Given the description of an element on the screen output the (x, y) to click on. 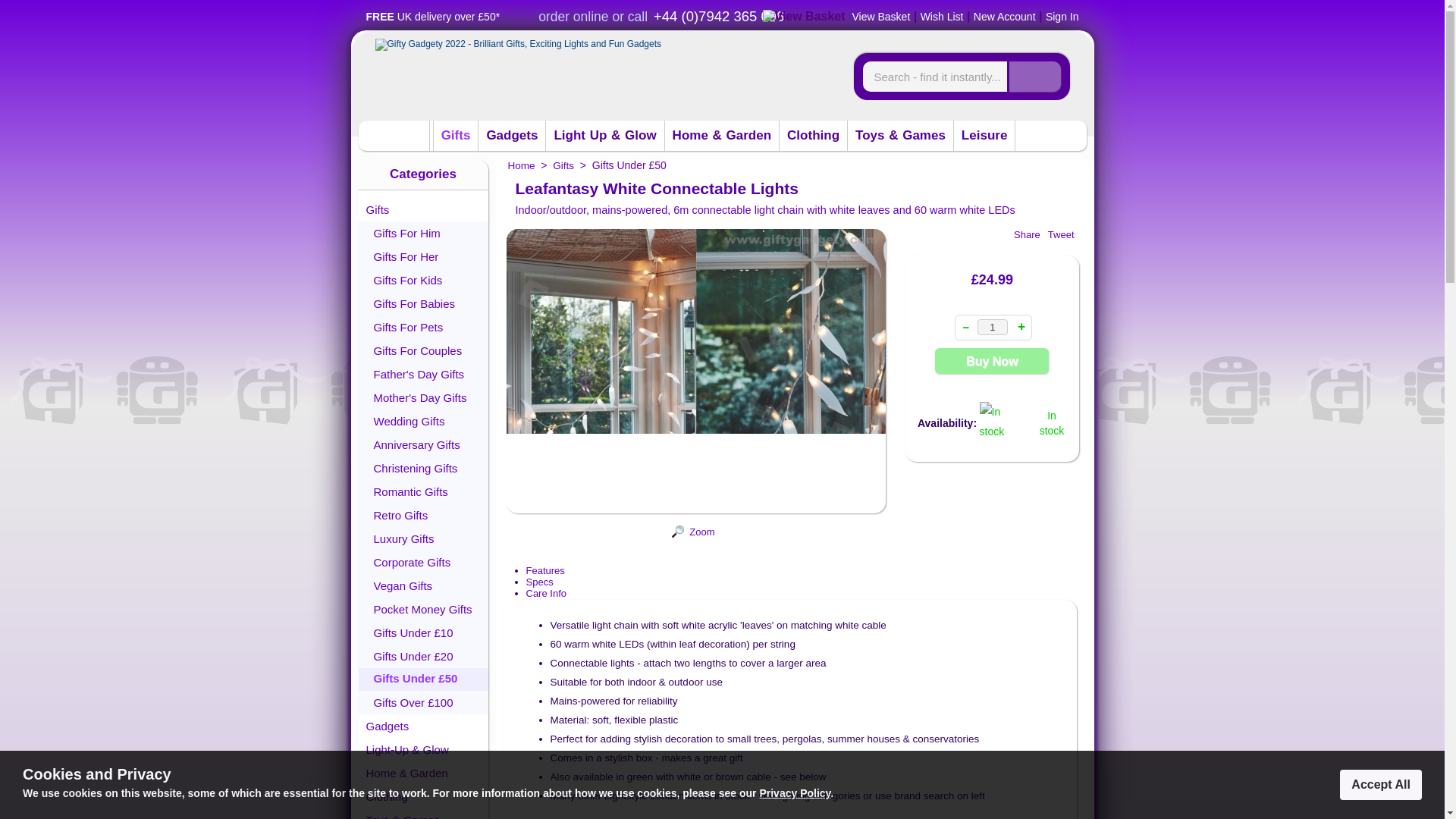
Wedding Gifts (422, 421)
Gifts For Pets (422, 327)
Leafantasy White Connectable Lights (693, 517)
Gifts For Kids (422, 279)
Corporate Gifts (422, 562)
Leafantasy White Connectable Lights (677, 533)
Gifts For Him (422, 232)
Vegan Gifts (422, 585)
Zoom (695, 371)
Pocket Money Gifts (422, 608)
